Given the description of an element on the screen output the (x, y) to click on. 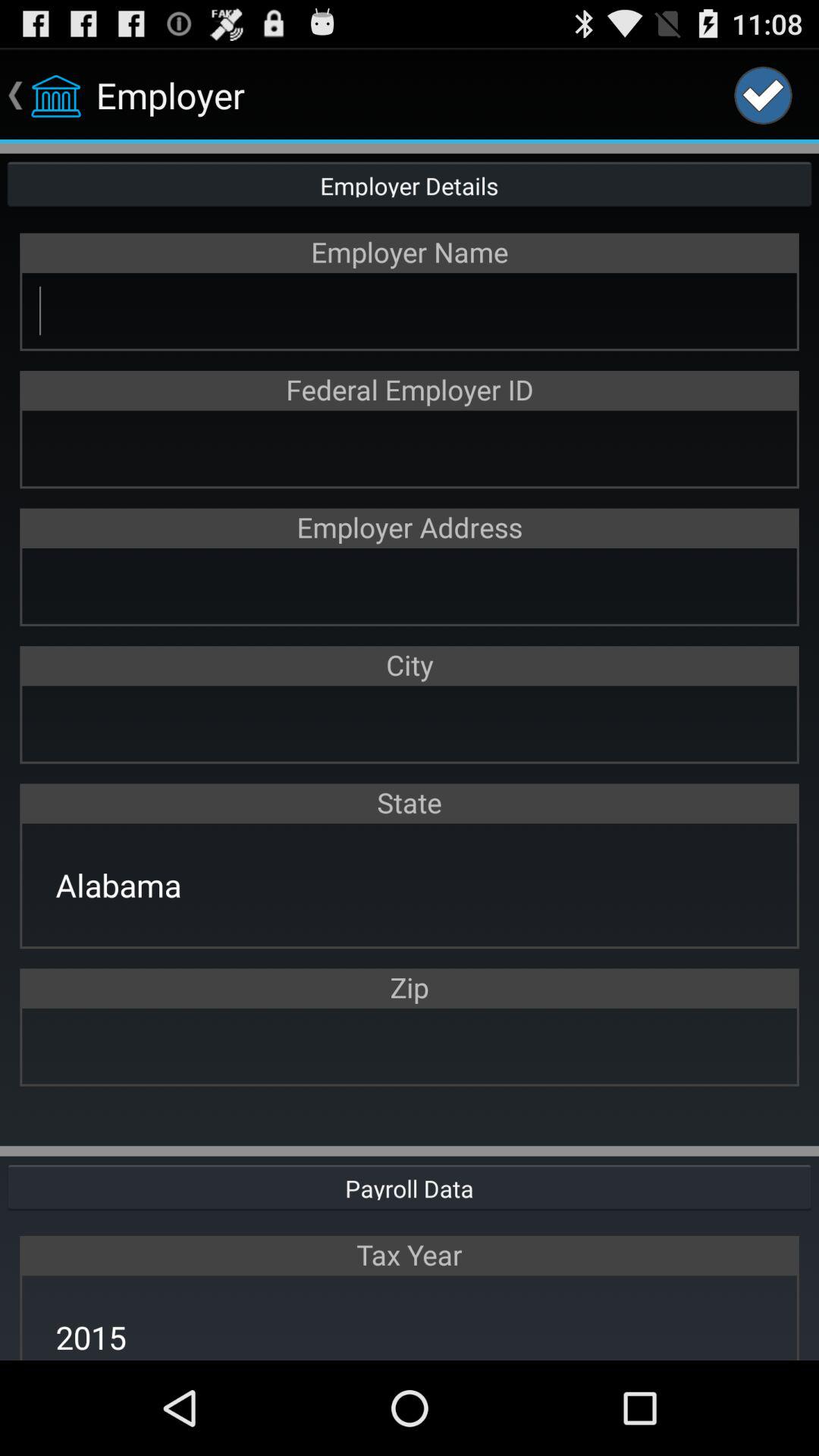
where you put address (409, 586)
